Given the description of an element on the screen output the (x, y) to click on. 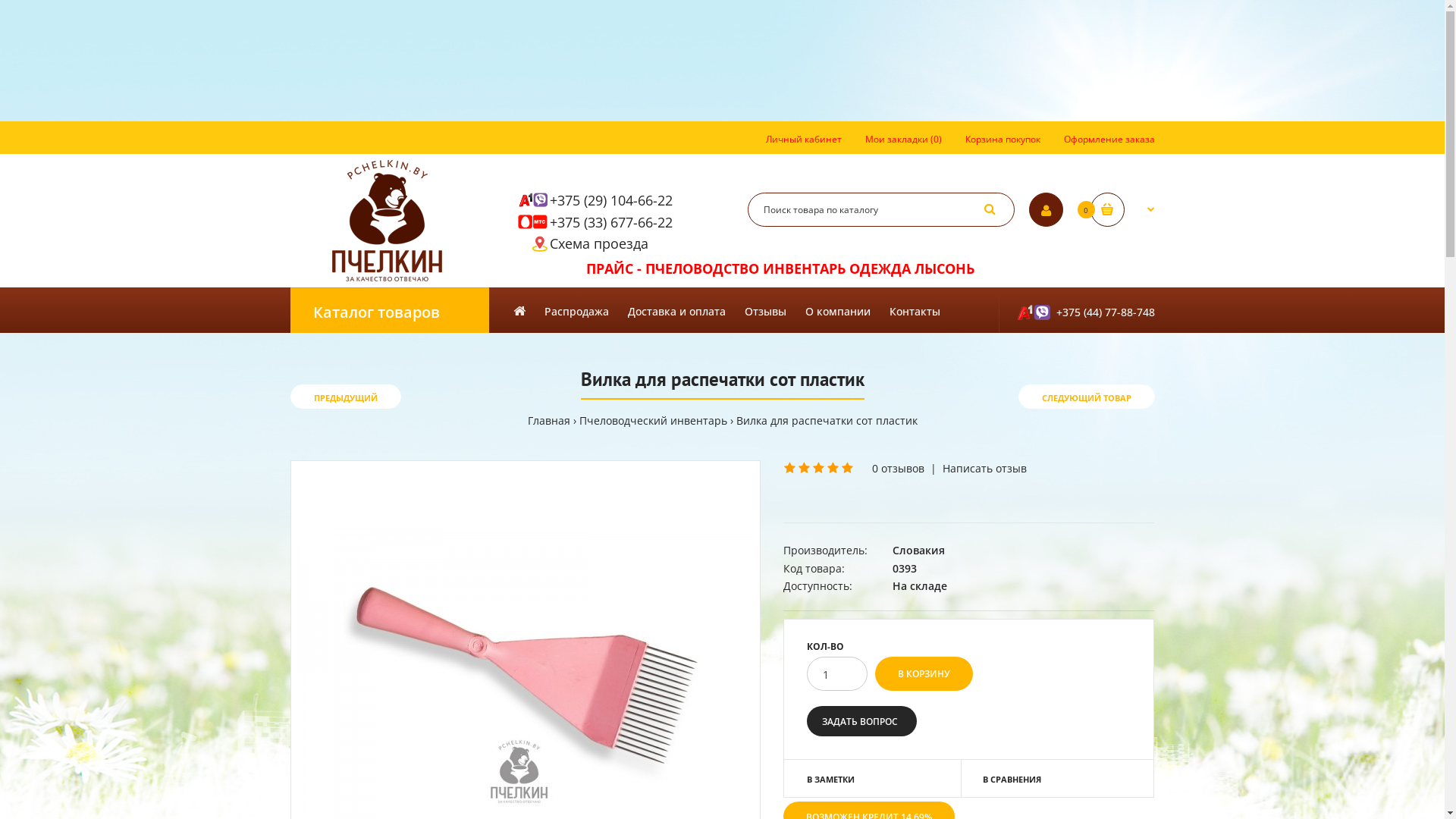
+375 (33) 677-66-22 Element type: text (610, 222)
0 Element type: text (1122, 209)
+375 (44) 77-88-748 Element type: text (1075, 309)
+375 (29) 104-66-22 Element type: text (610, 200)
